Given the description of an element on the screen output the (x, y) to click on. 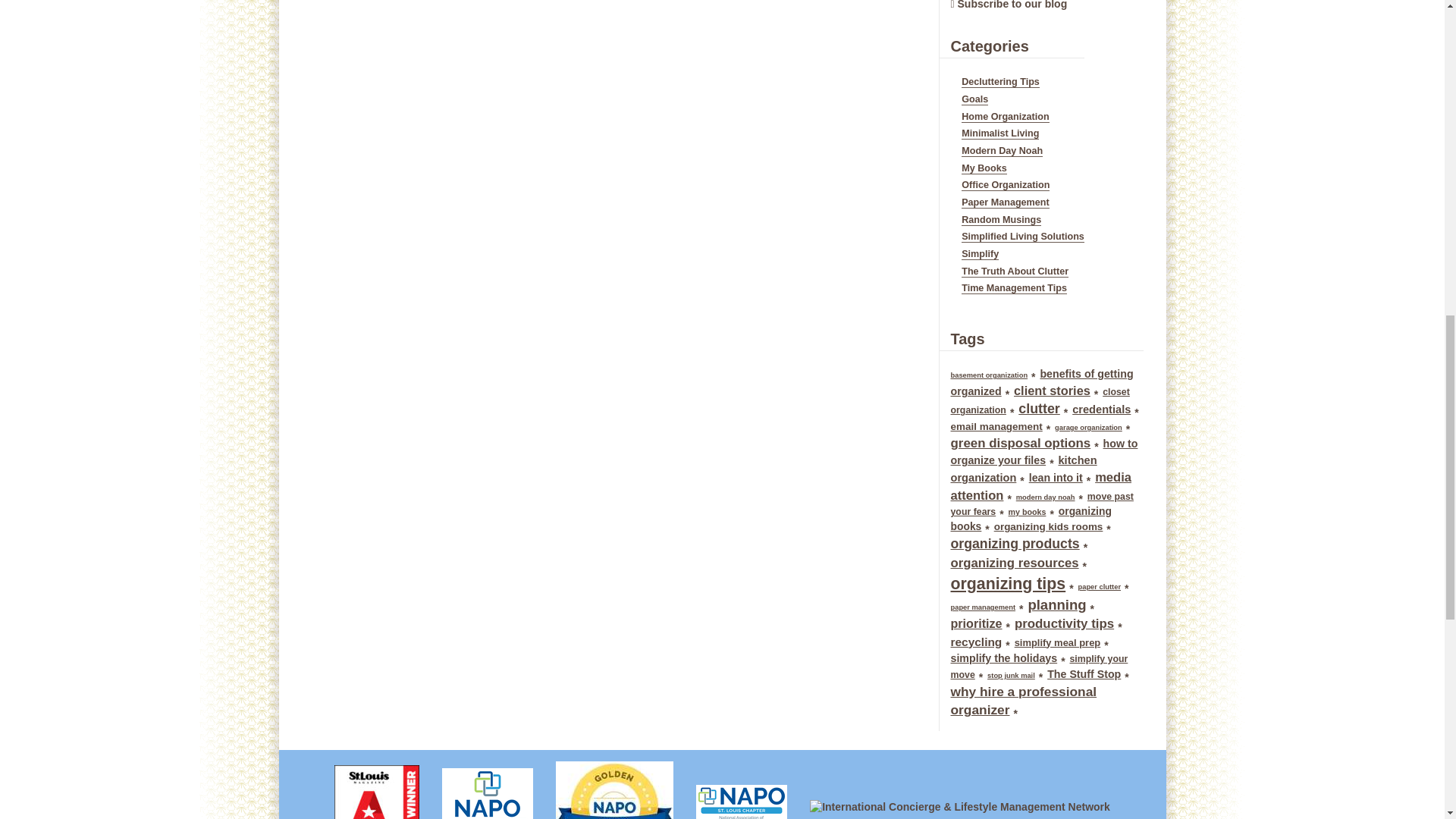
NAPO National (487, 787)
Simplify (979, 254)
Subscribe to our blog (1012, 4)
Decluttering Tips (999, 81)
Modern Day Noah (1001, 151)
Random Musings (1000, 220)
Minimalist Living (999, 133)
NAPO St Louis (740, 796)
My Books (983, 168)
Paper Management (1004, 202)
